Given the description of an element on the screen output the (x, y) to click on. 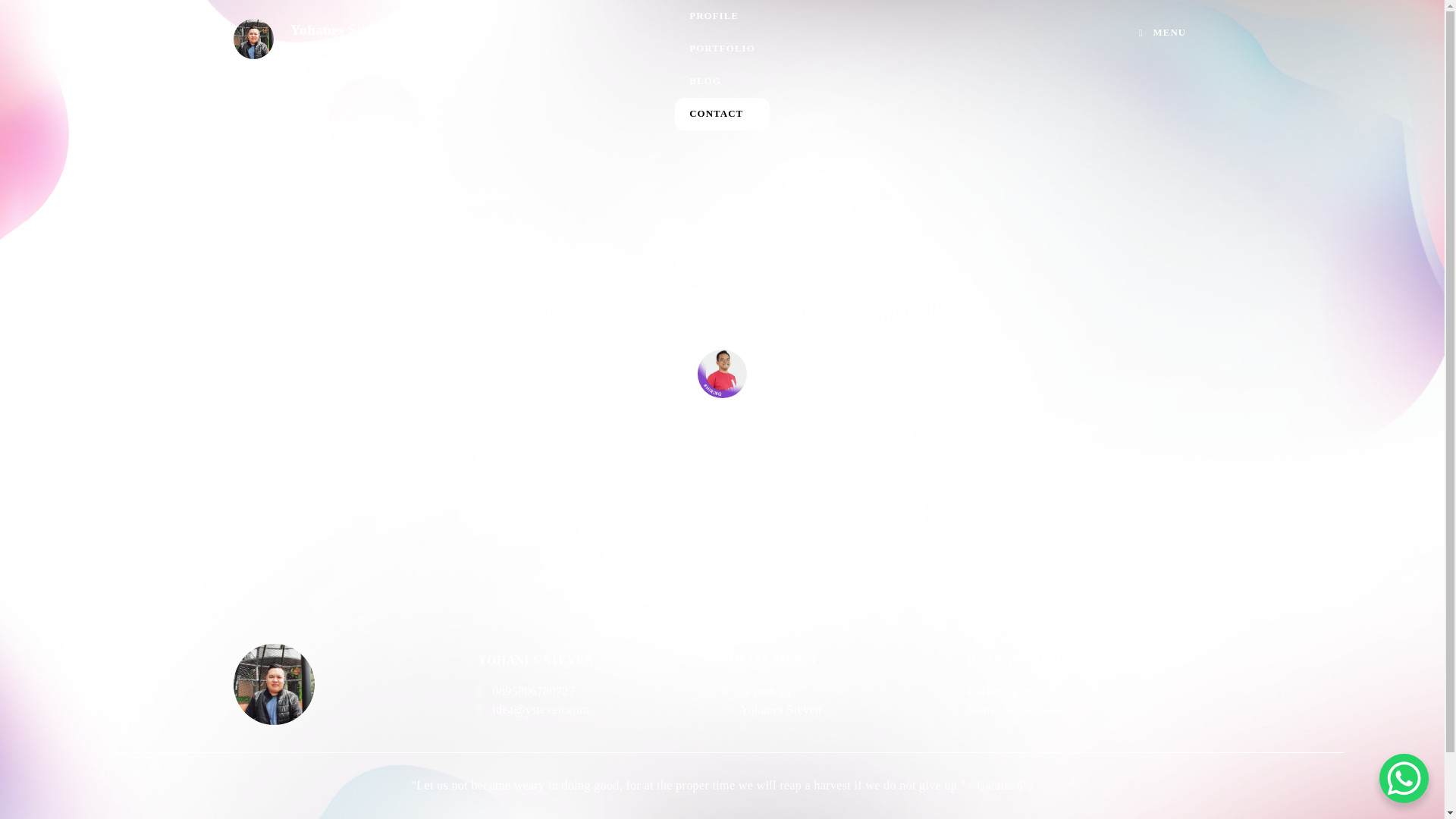
   MENU (1081, 30)
Yohanes Steven (726, 659)
Previous (205, 339)
Search (330, 14)
Next (168, 12)
PROFILE (1138, 339)
BLOG (671, 15)
PORTFOLIO (671, 75)
CONTACT (671, 45)
